Given the description of an element on the screen output the (x, y) to click on. 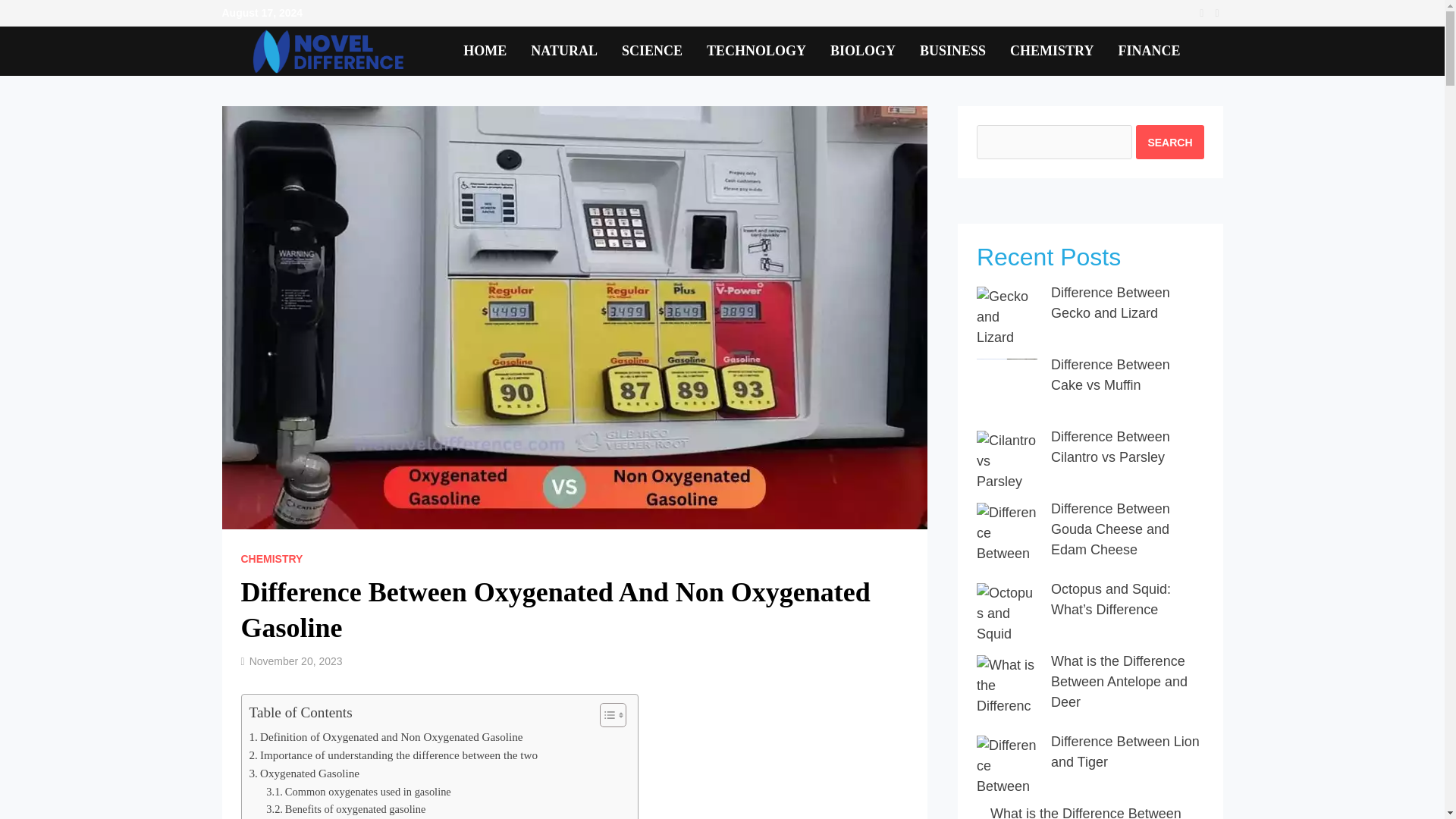
Definition of Oxygenated and Non Oxygenated Gasoline (385, 737)
Oxygenated Gasoline (303, 773)
Common oxygenates used in gasoline (357, 791)
Benefits of oxygenated gasoline (345, 809)
Benefits of oxygenated gasoline (345, 809)
SCIENCE (652, 51)
Importance of understanding the difference between the two (392, 755)
CHEMISTRY (1051, 51)
Facebook (1203, 11)
